Given the description of an element on the screen output the (x, y) to click on. 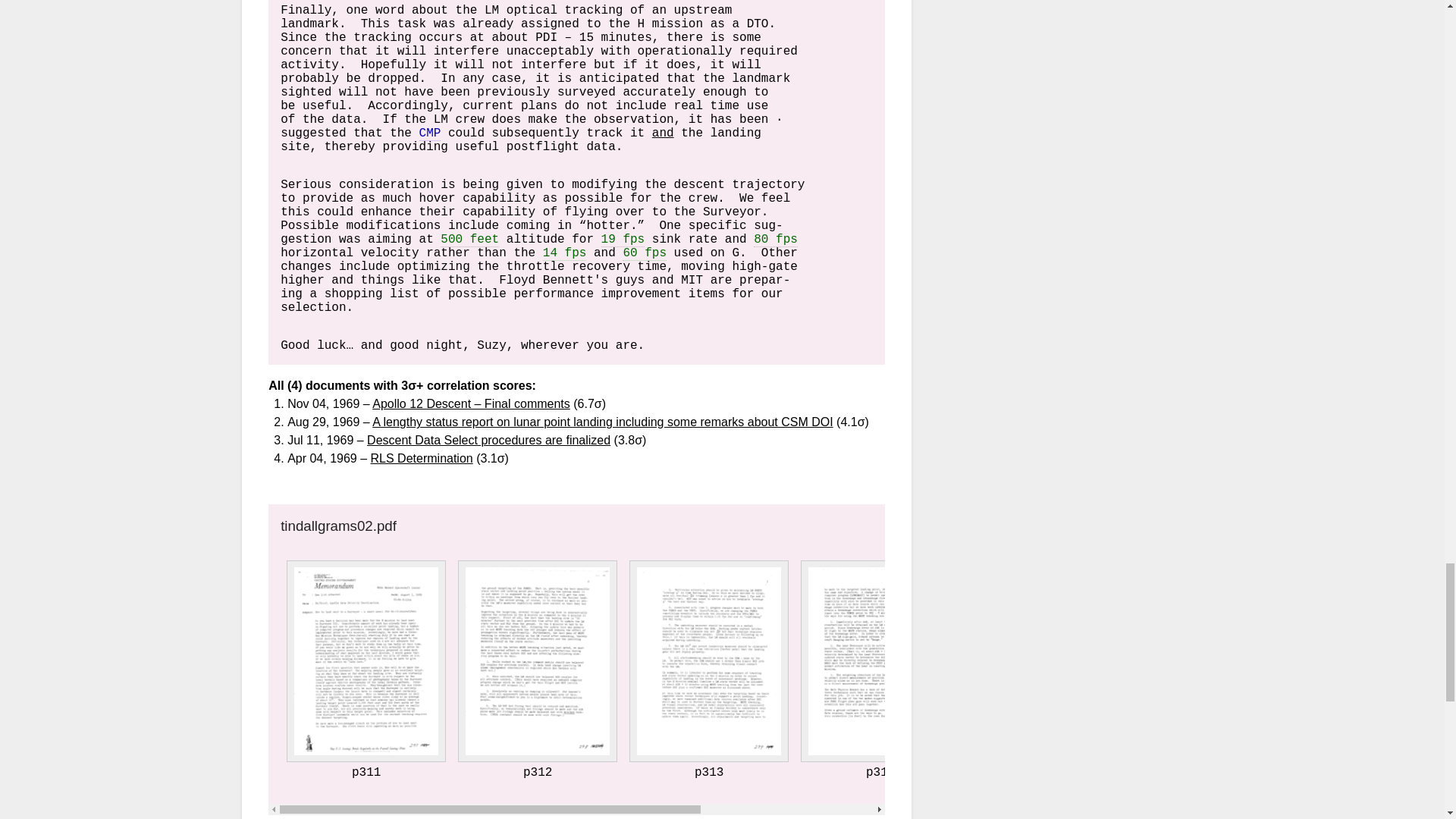
RLS Determination (422, 458)
Descent Data Select procedures are finalized (488, 440)
